Given the description of an element on the screen output the (x, y) to click on. 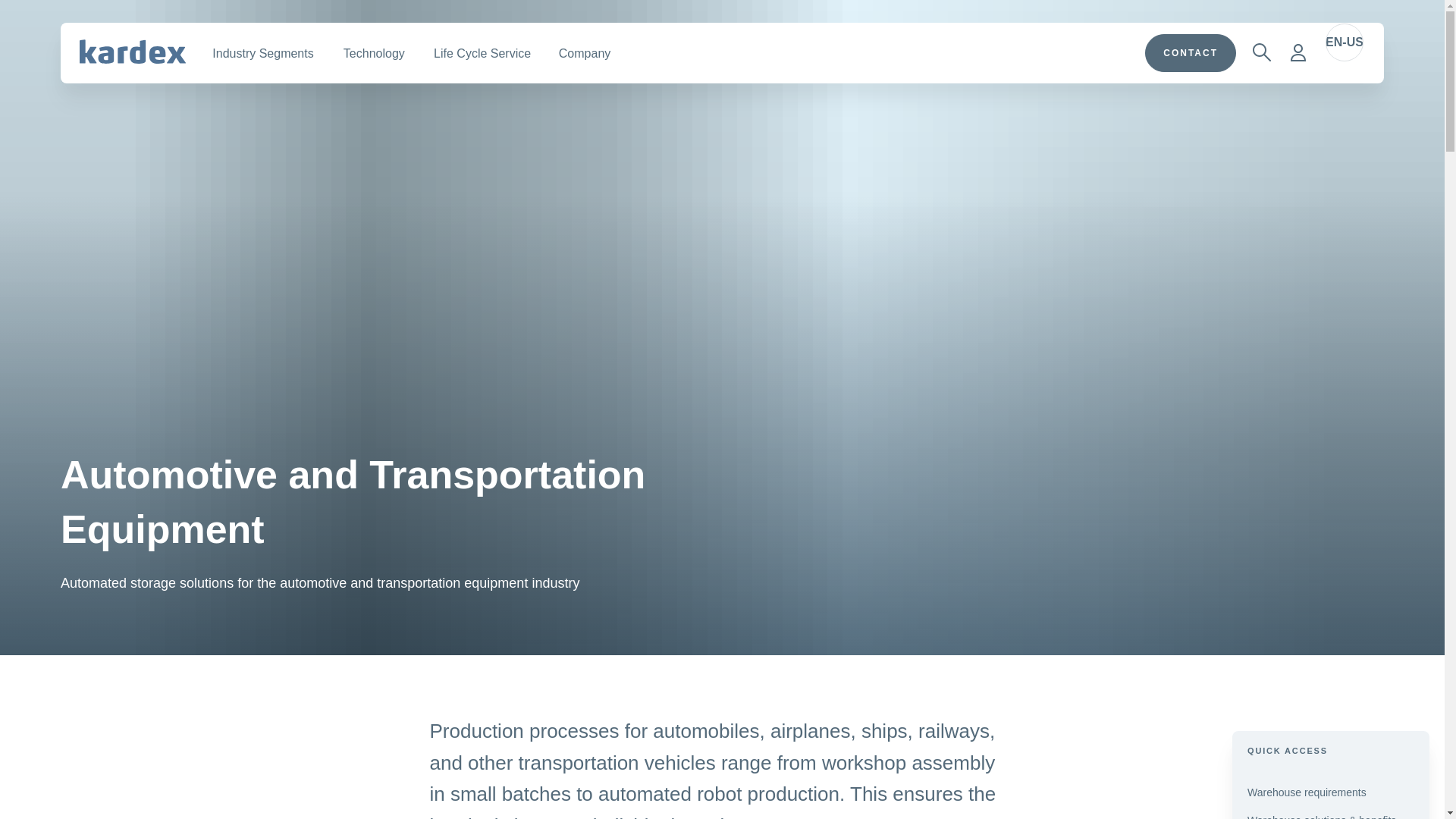
EN-US (1343, 42)
Company (585, 52)
Login (1297, 52)
Industry Segments (262, 52)
CONTACT (1190, 53)
Technology (374, 52)
Life Cycle Service (482, 52)
Search (1261, 52)
Kardex, to Homepage (133, 51)
